Given the description of an element on the screen output the (x, y) to click on. 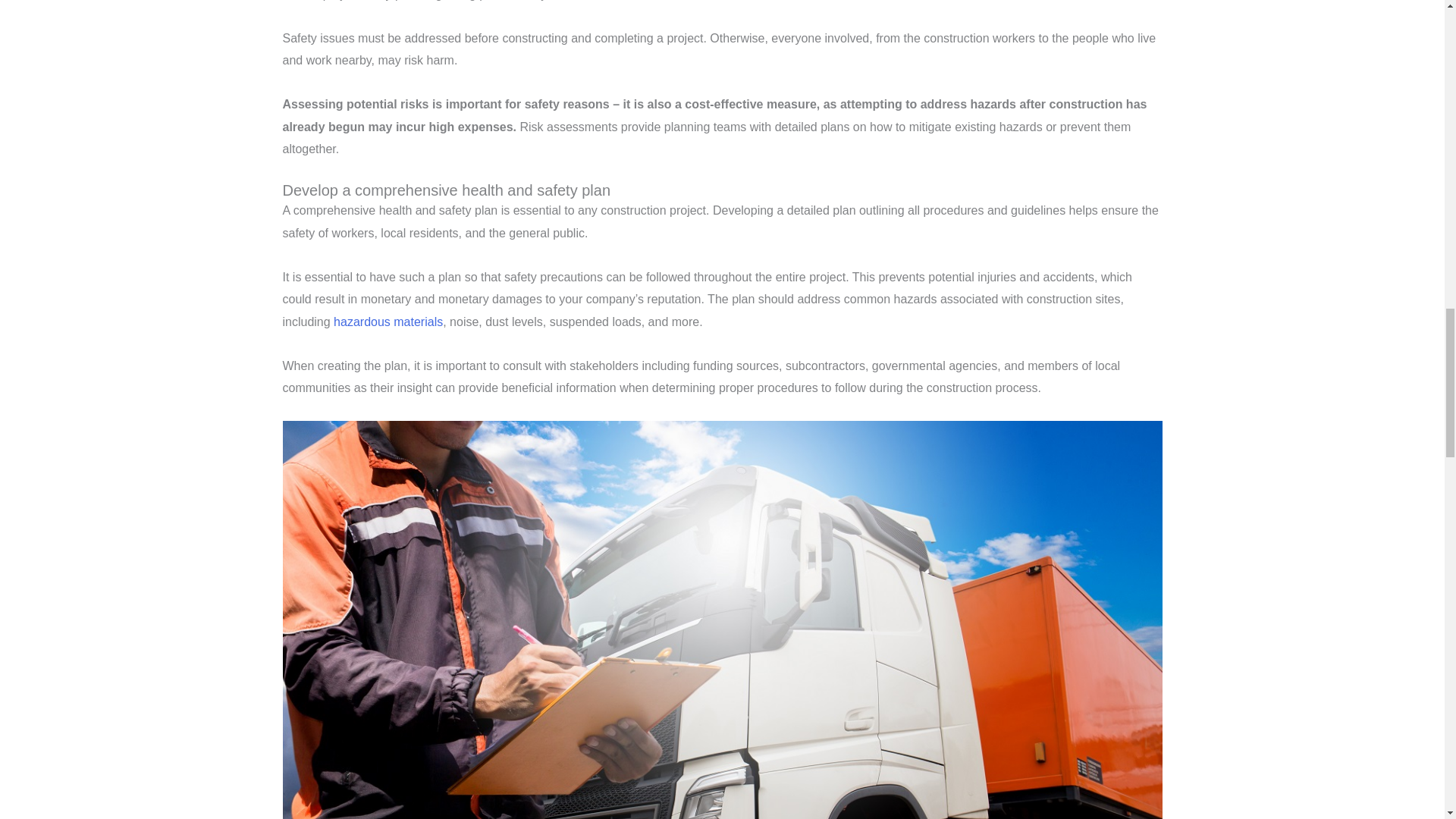
hazardous materials (387, 321)
